Given the description of an element on the screen output the (x, y) to click on. 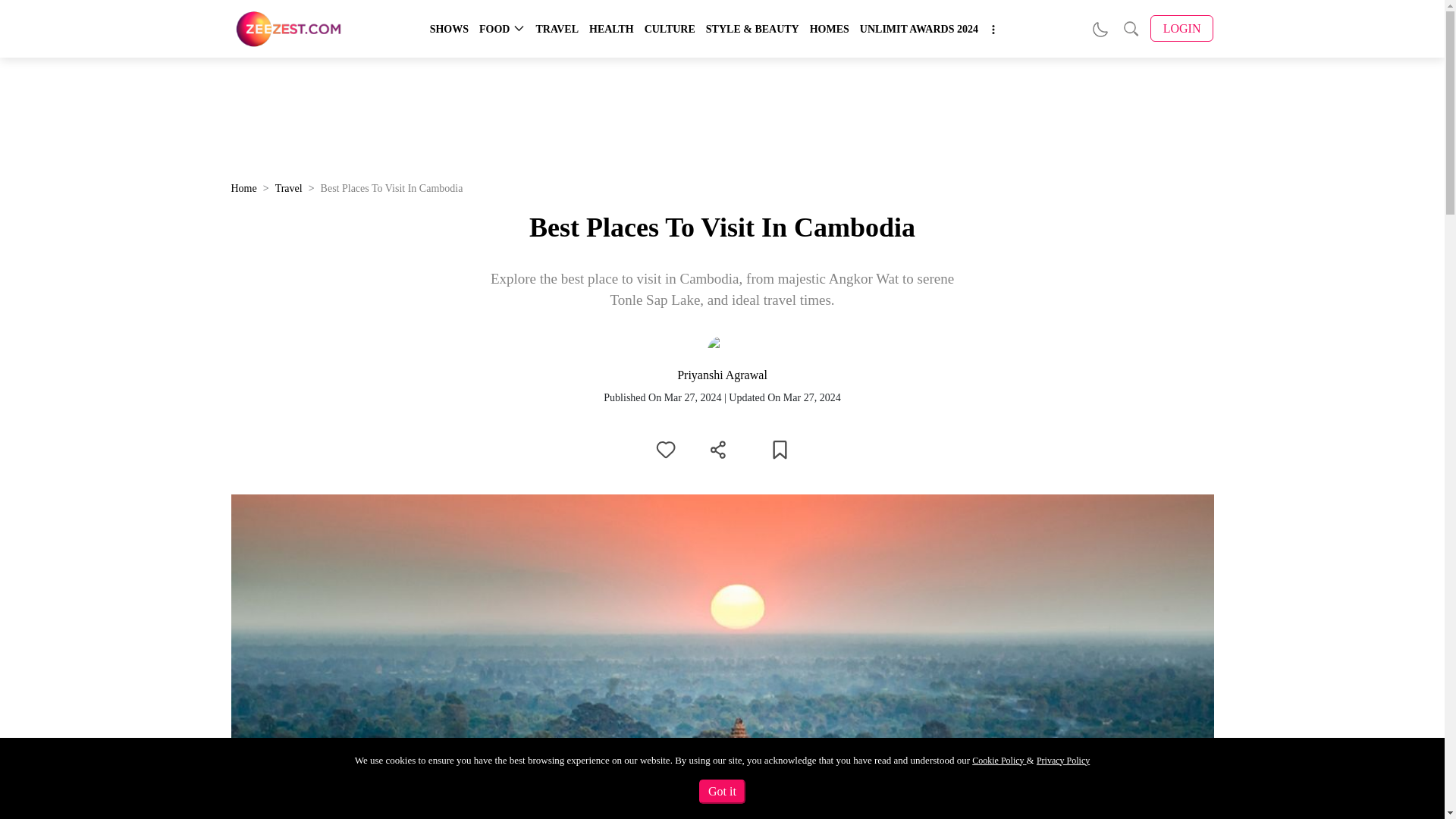
CULTURE (670, 28)
Twitter (1296, 802)
SHOWS (448, 28)
Youtube (1372, 802)
FOOD (494, 28)
LOGIN (1182, 28)
HEALTH (611, 28)
Instagram (1334, 802)
UNLIMIT AWARDS 2024 (919, 28)
TRAVEL (556, 28)
